Given the description of an element on the screen output the (x, y) to click on. 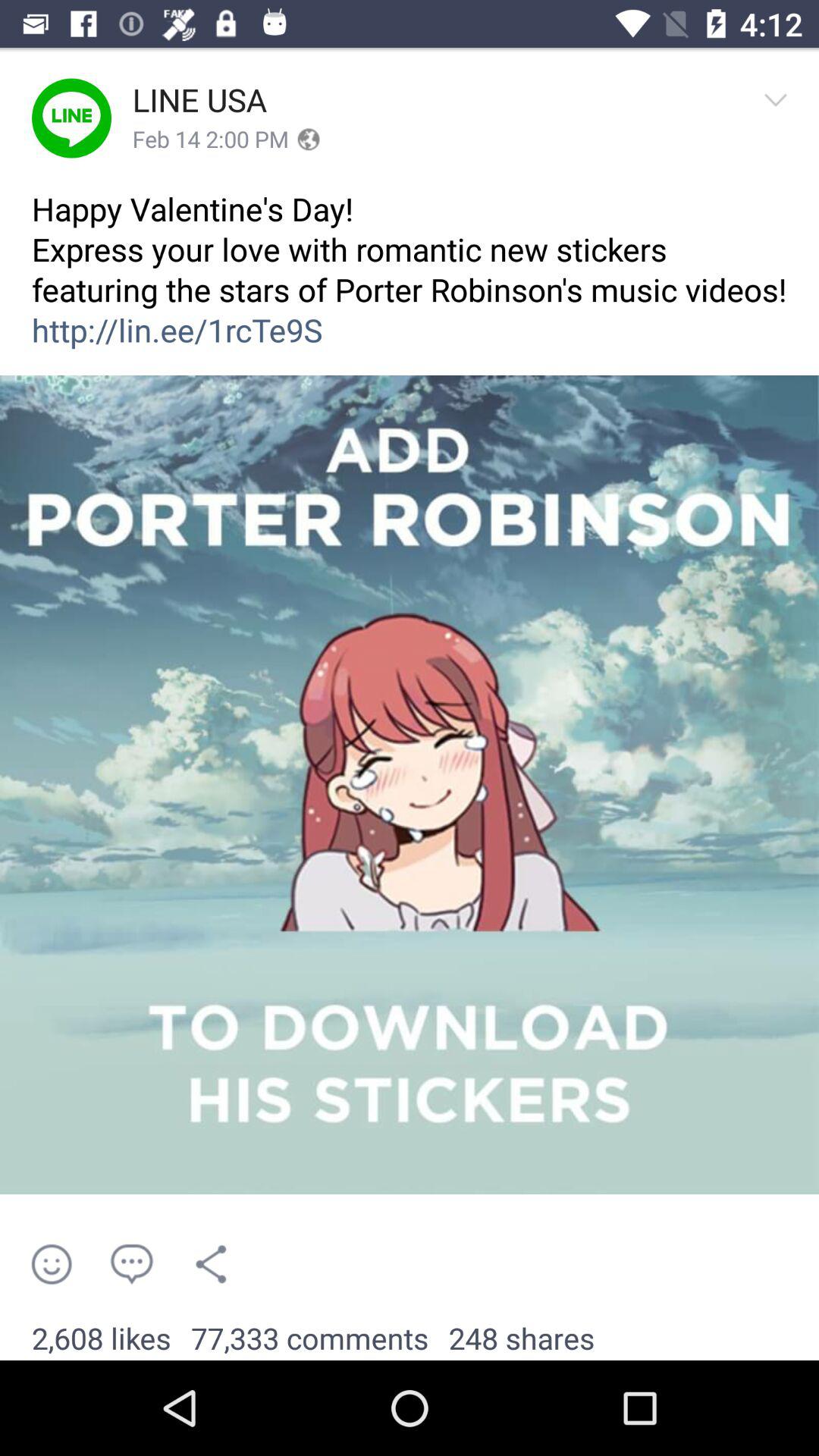
open app to the left of 248 shares item (309, 1339)
